Given the description of an element on the screen output the (x, y) to click on. 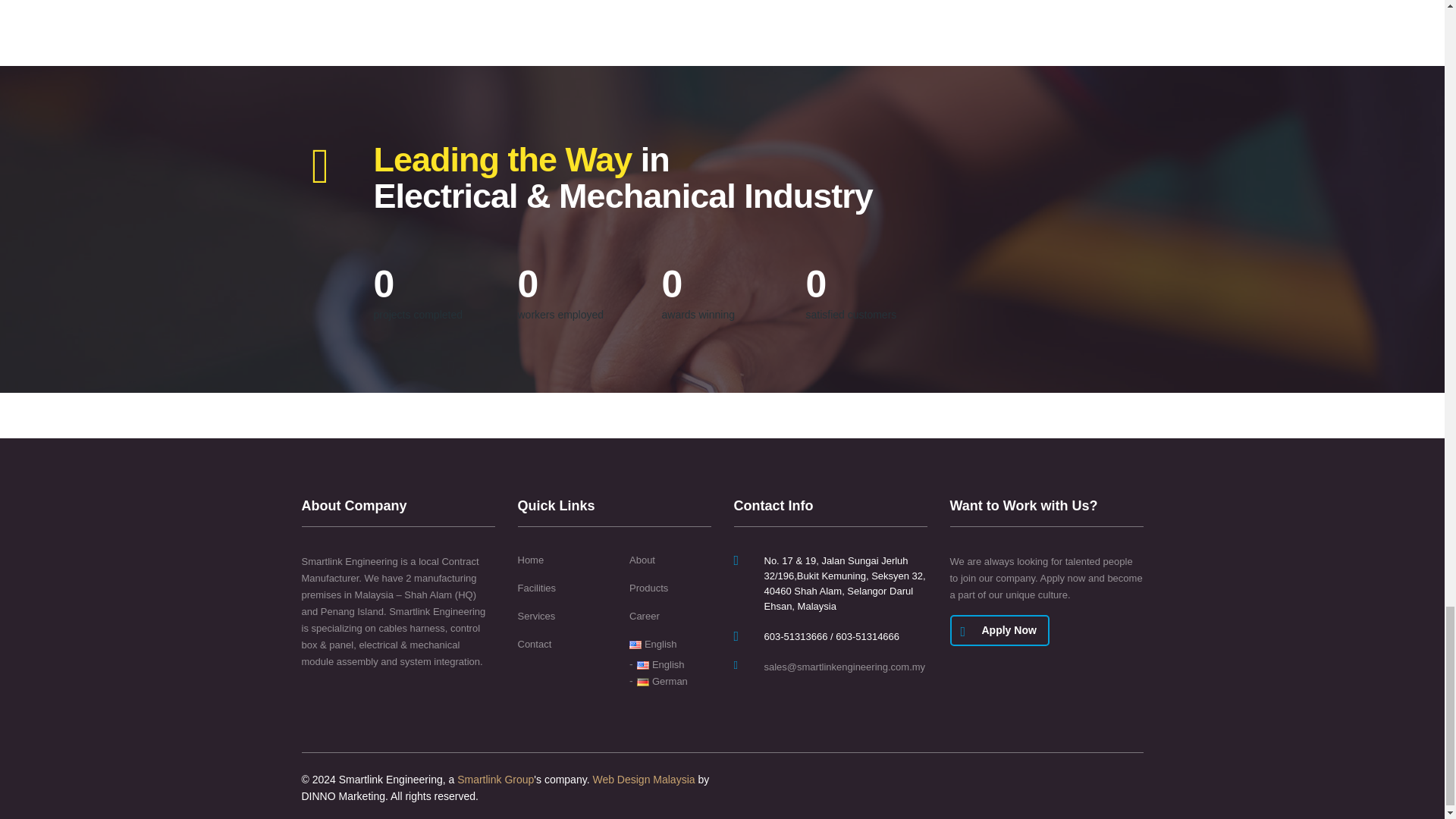
Services (535, 616)
Facilities (536, 588)
Products (648, 588)
Home (529, 560)
Career (643, 616)
English (652, 644)
About (641, 560)
Contact (533, 644)
